Given the description of an element on the screen output the (x, y) to click on. 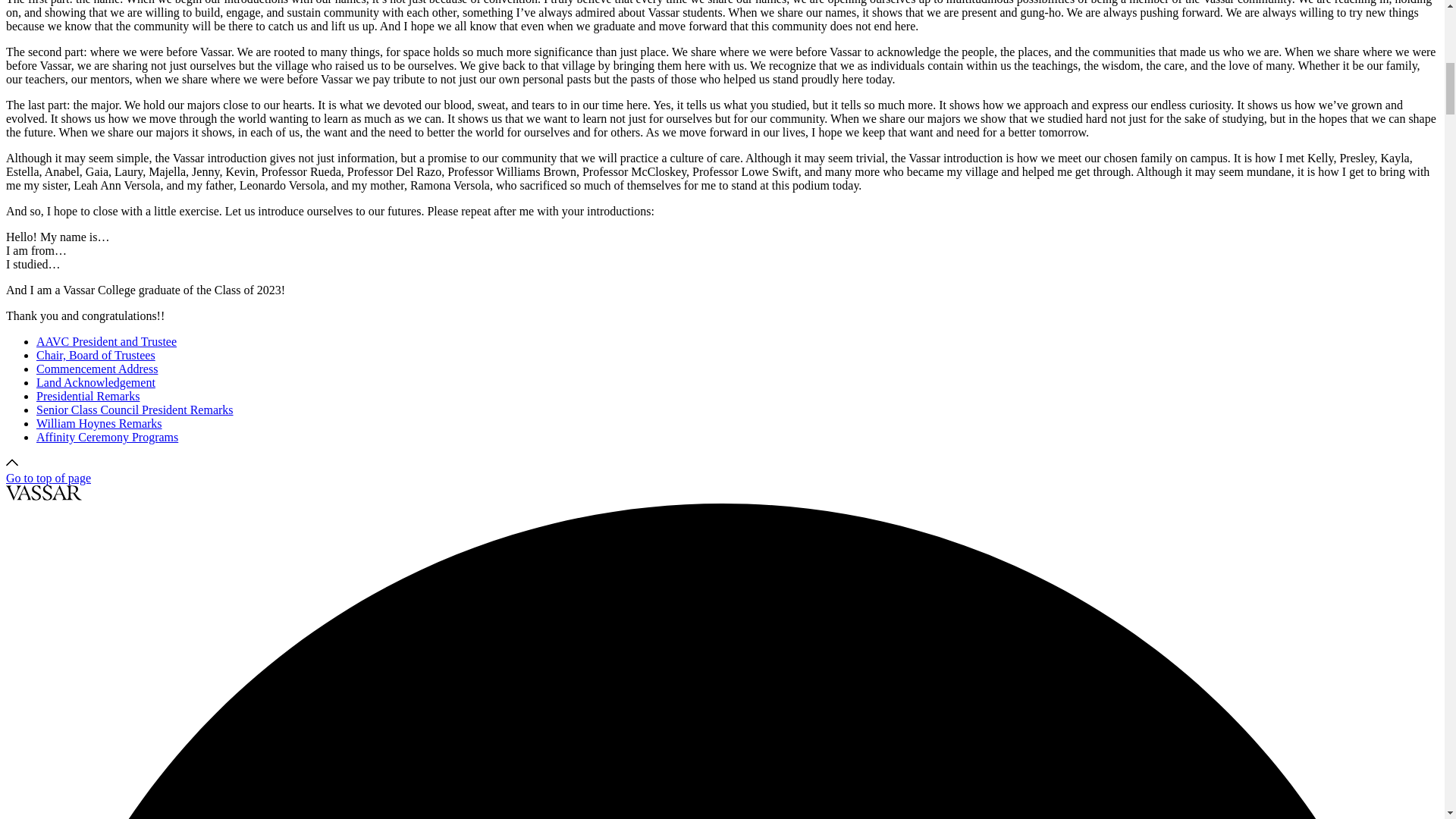
Vassar (43, 492)
Commencement Address (96, 368)
Chair, Board of Trustees (95, 354)
Presidential Remarks (87, 395)
Land Acknowledgement (95, 382)
AAVC President and Trustee (106, 341)
Senior Class Council President Remarks (134, 409)
